Given the description of an element on the screen output the (x, y) to click on. 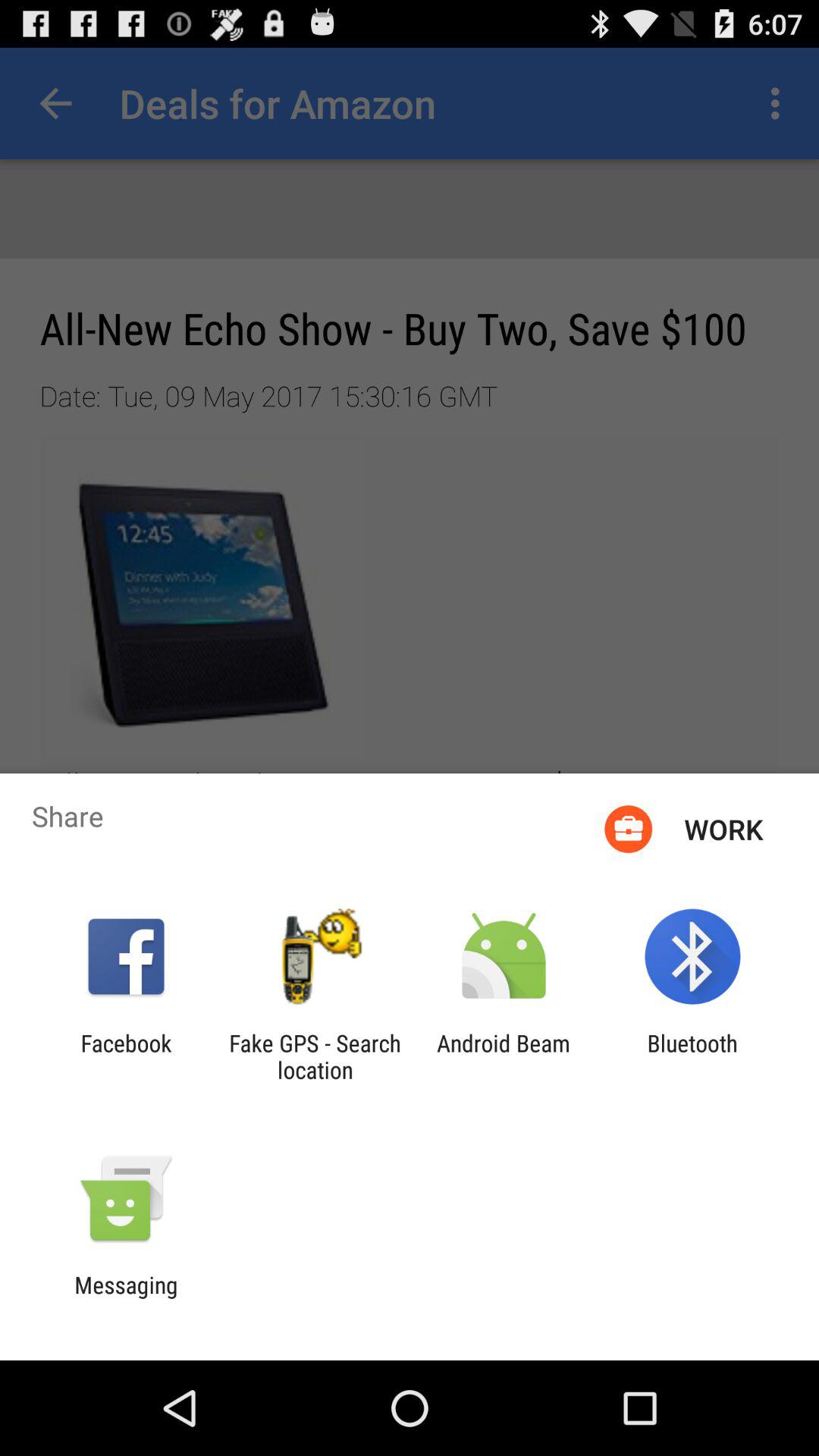
turn off the icon next to the android beam app (692, 1056)
